Given the description of an element on the screen output the (x, y) to click on. 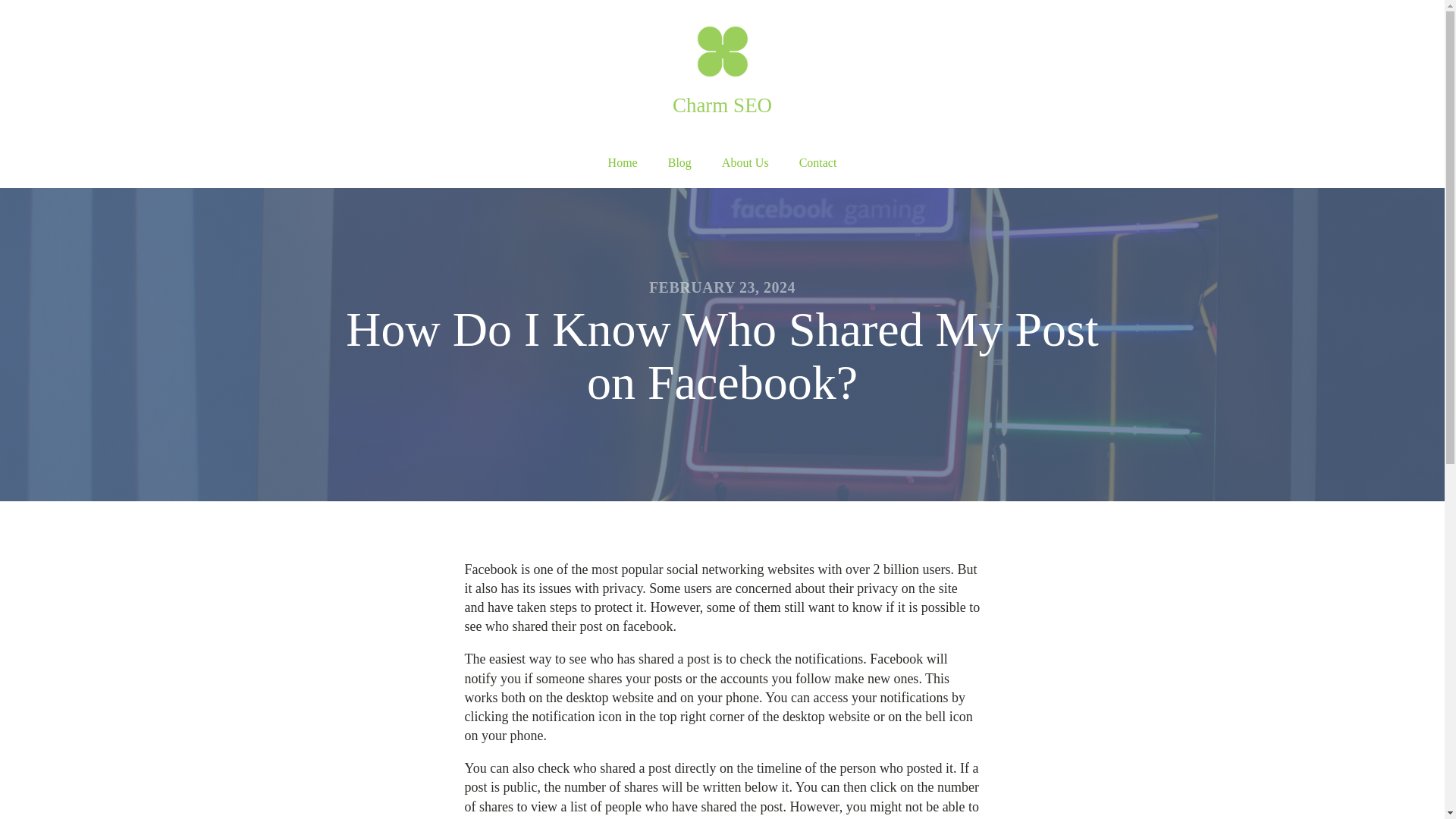
Contact (817, 163)
Blog (679, 163)
About Us (745, 163)
Home (622, 163)
